Given the description of an element on the screen output the (x, y) to click on. 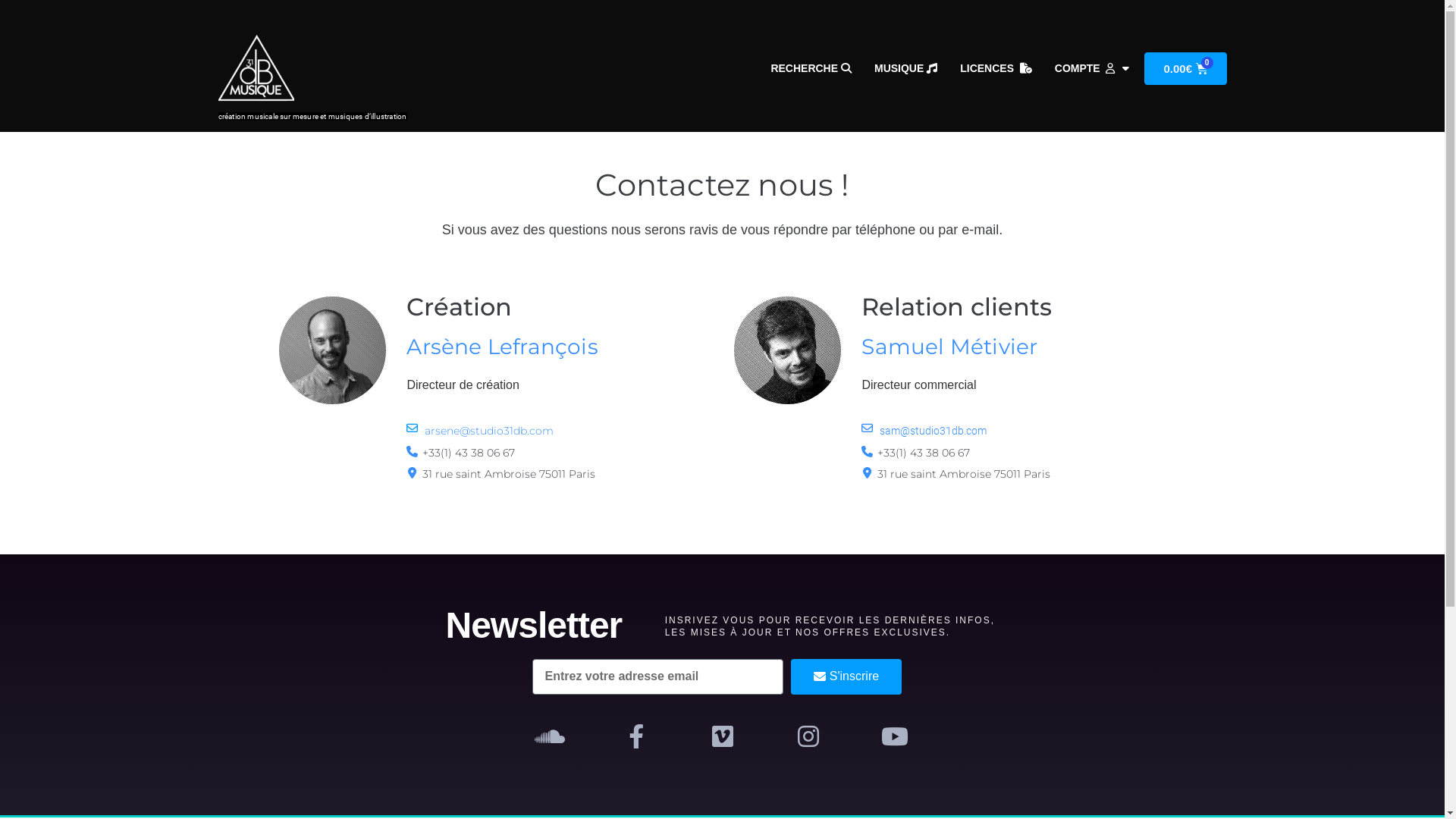
MUSIQUE  Element type: text (905, 67)
+33(1) 43 38 06 67 Element type: text (468, 452)
LICENCES   Element type: text (996, 67)
+33(1) 43 38 06 67 Element type: text (923, 452)
S'inscrire Element type: text (845, 676)
arsene@studio31db.com Element type: text (488, 430)
COMPTE   Element type: text (1091, 67)
31 rue saint Ambroise 75011 Paris Element type: text (963, 473)
31 rue saint Ambroise 75011 Paris Element type: text (508, 473)
RECHERCHE  Element type: text (810, 67)
sam@studio31db.com Element type: text (932, 430)
